Given the description of an element on the screen output the (x, y) to click on. 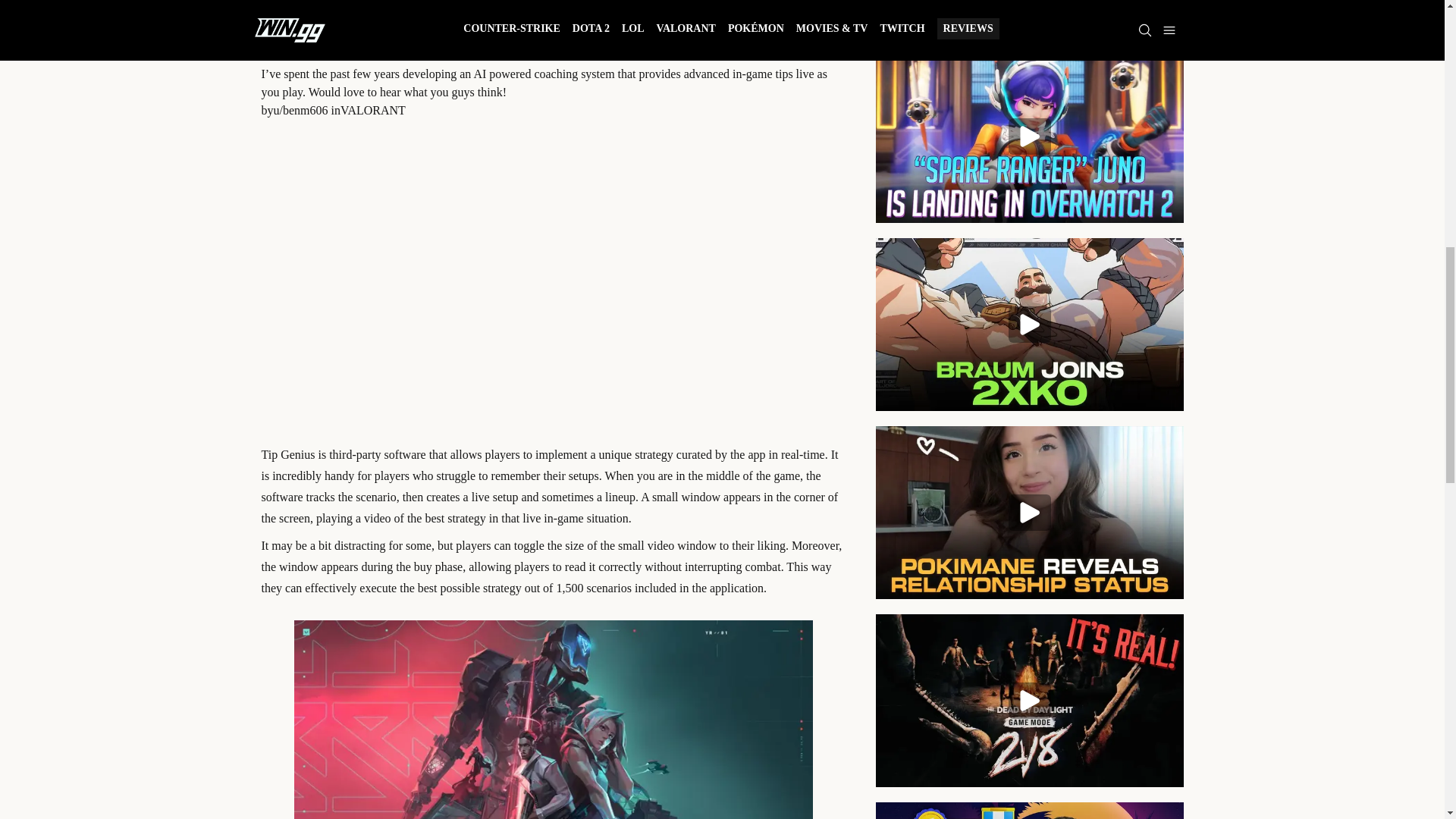
VALORANT (373, 110)
